Given the description of an element on the screen output the (x, y) to click on. 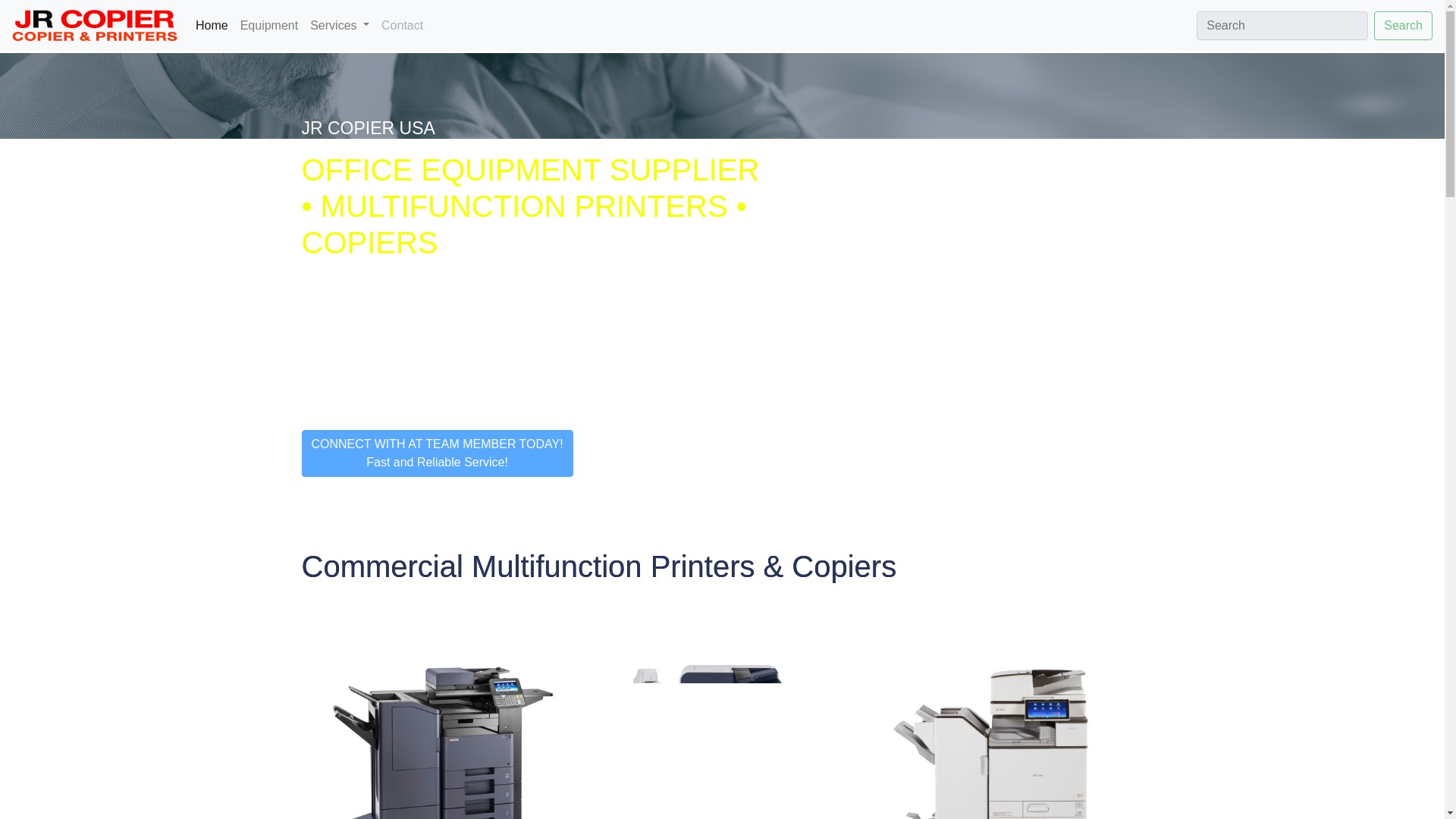
Search (1403, 24)
Equipment (269, 25)
Services (339, 25)
Contact (402, 25)
